Given the description of an element on the screen output the (x, y) to click on. 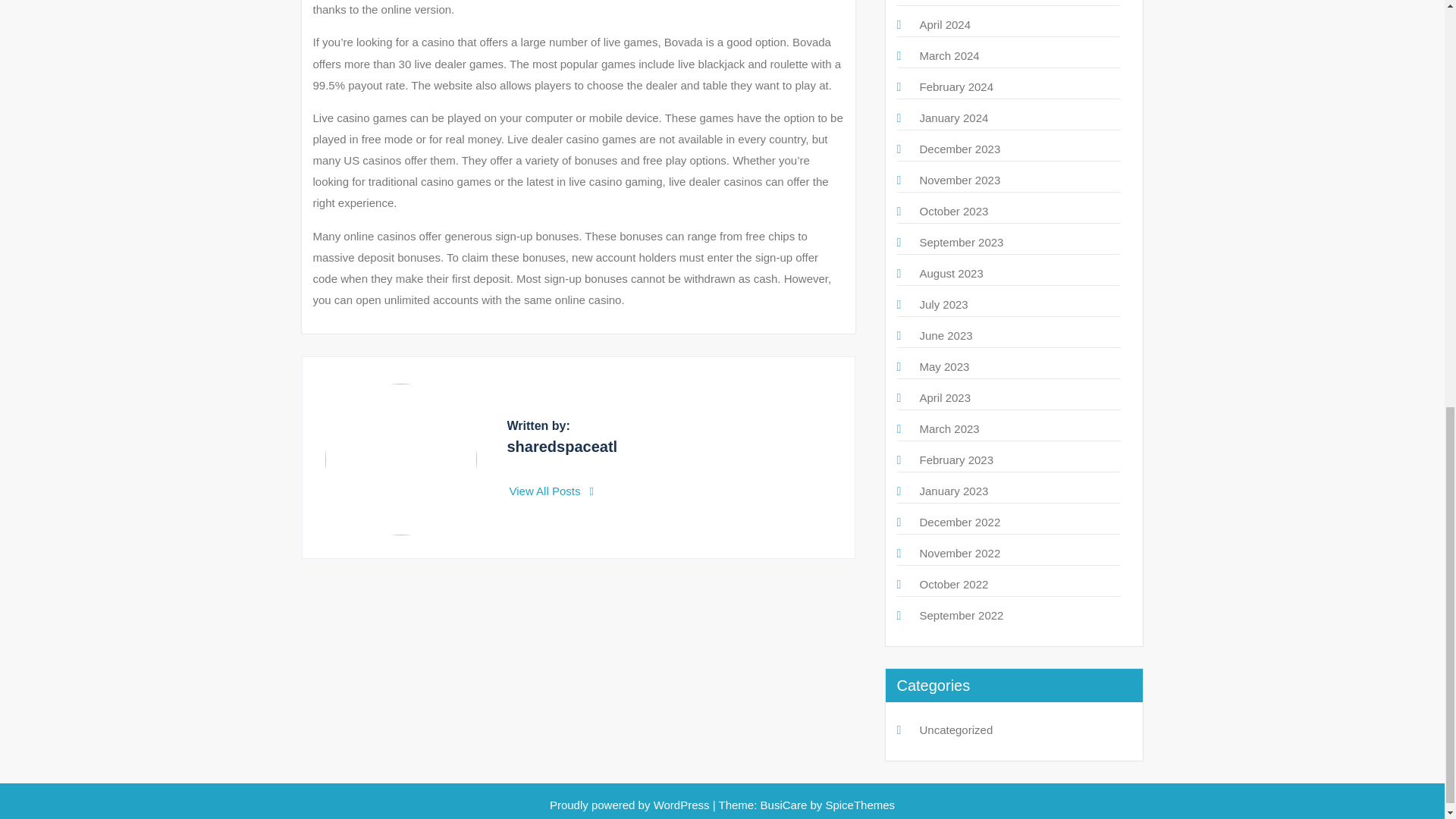
April 2023 (944, 397)
March 2023 (948, 428)
February 2024 (955, 86)
WordPress (681, 804)
January 2023 (953, 490)
May 2023 (943, 366)
November 2023 (959, 179)
September 2023 (960, 241)
View All Posts (551, 490)
BusiCare (785, 804)
September 2022 (960, 615)
December 2022 (959, 521)
SpiceThemes (858, 804)
November 2022 (959, 553)
December 2023 (959, 148)
